Given the description of an element on the screen output the (x, y) to click on. 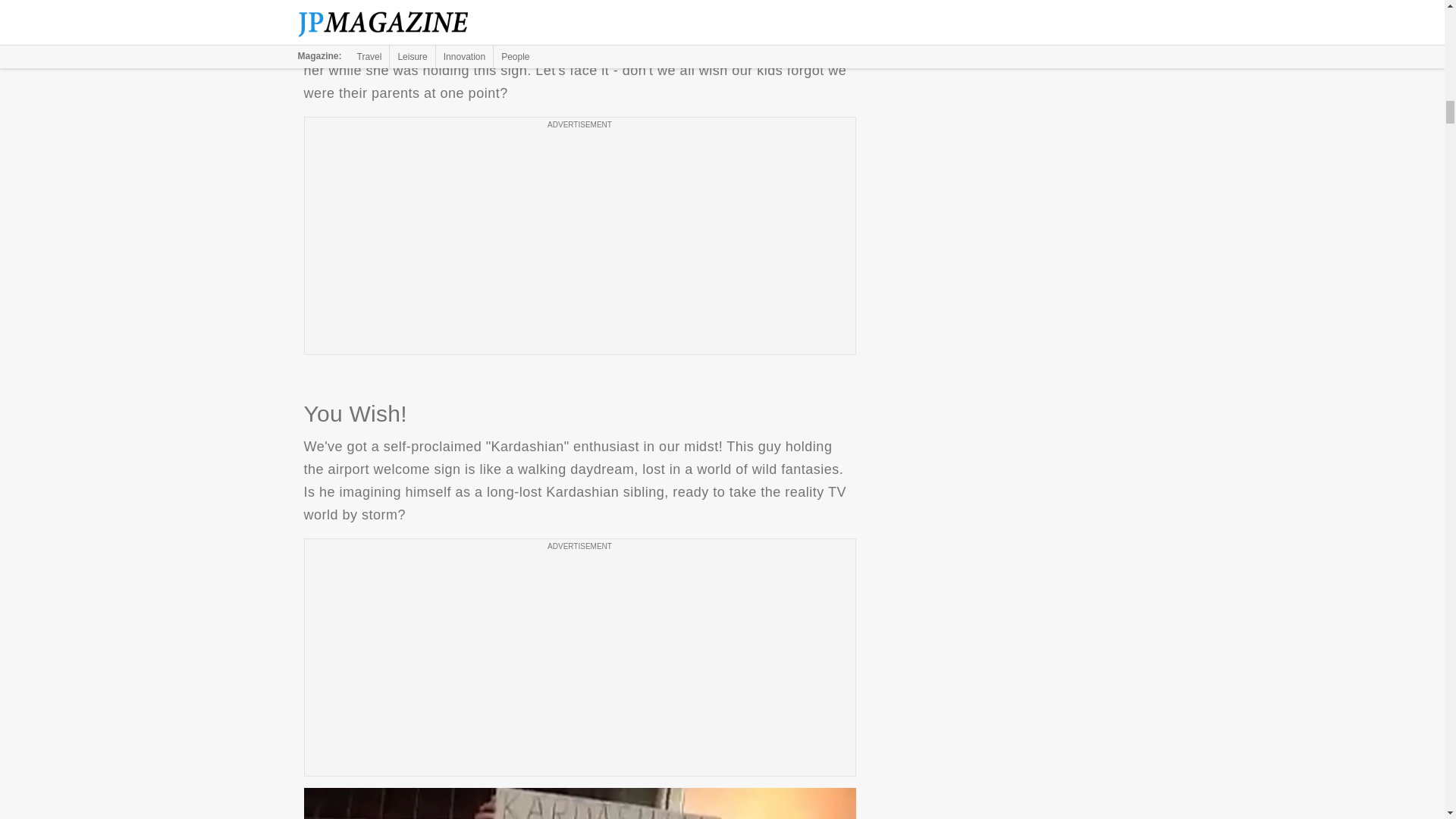
You Wish! (579, 803)
